Given the description of an element on the screen output the (x, y) to click on. 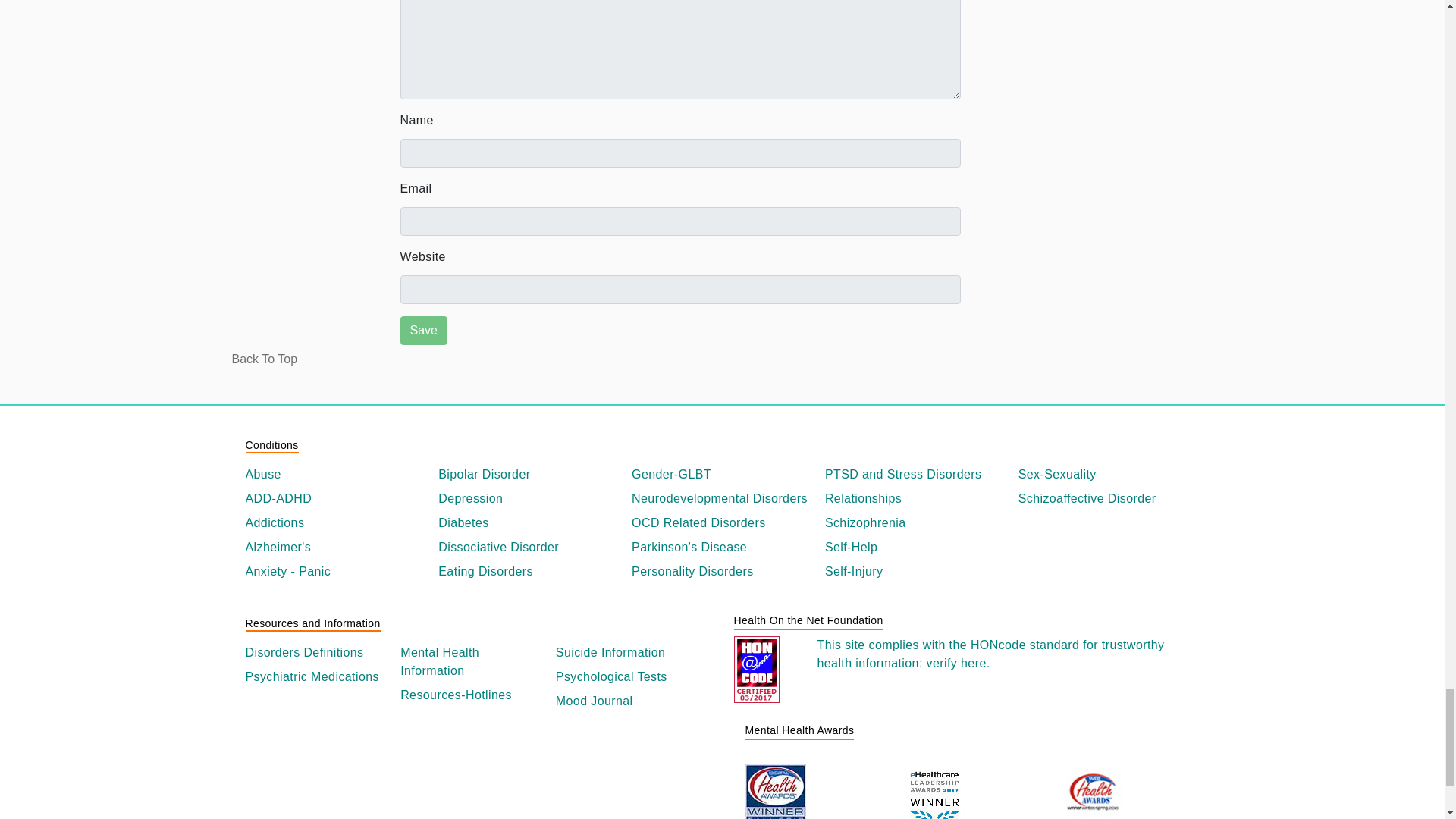
Parkinson's Disease Information Articles (721, 547)
